Given the description of an element on the screen output the (x, y) to click on. 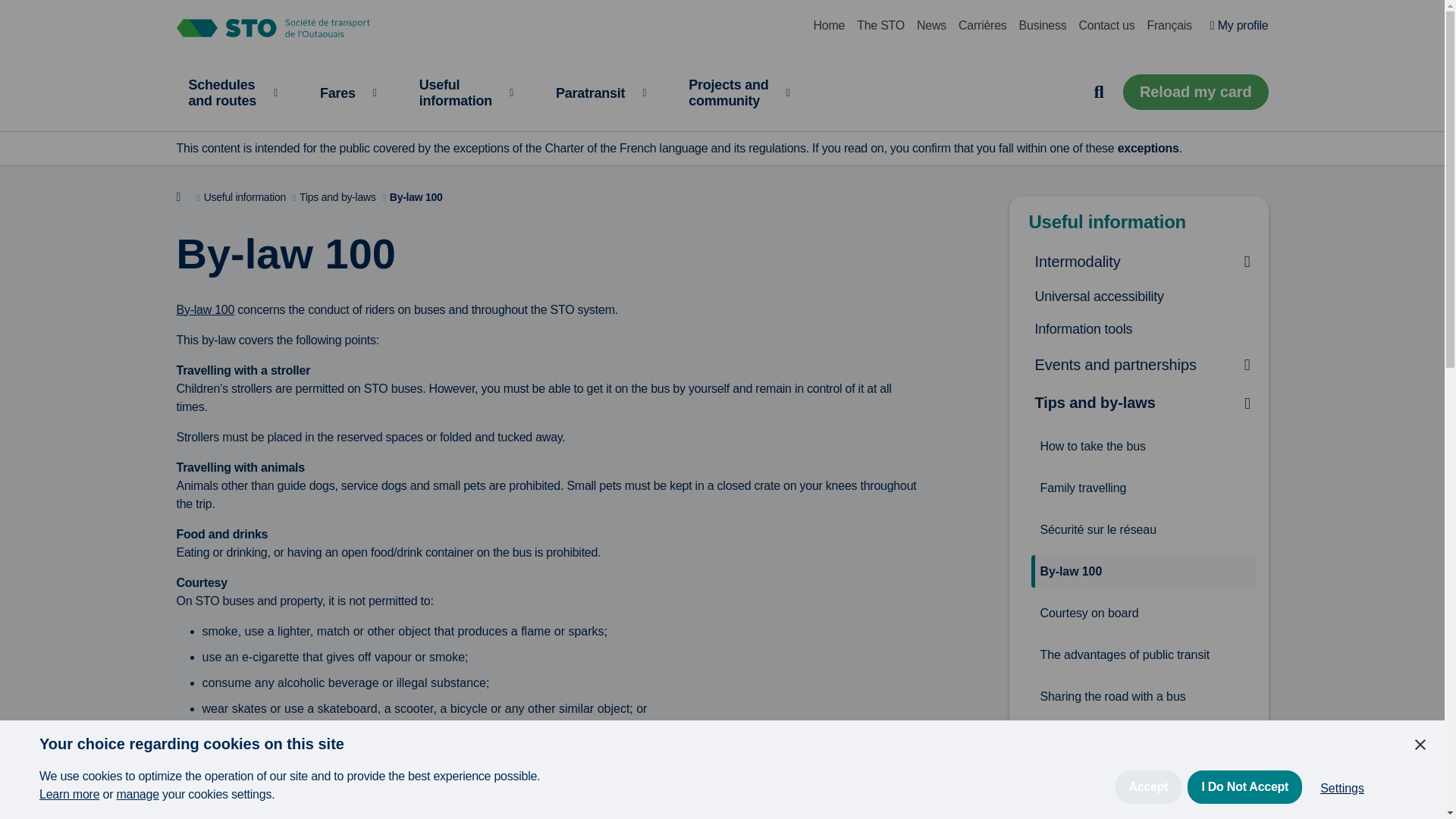
Accept (1148, 812)
News (931, 25)
Fares (347, 93)
My profile (466, 92)
STO - Link to home page (1238, 25)
Home (232, 92)
Contact us (272, 30)
I Do Not Accept (828, 25)
Settings (1106, 25)
The STO (1244, 806)
Business (1341, 806)
